Given the description of an element on the screen output the (x, y) to click on. 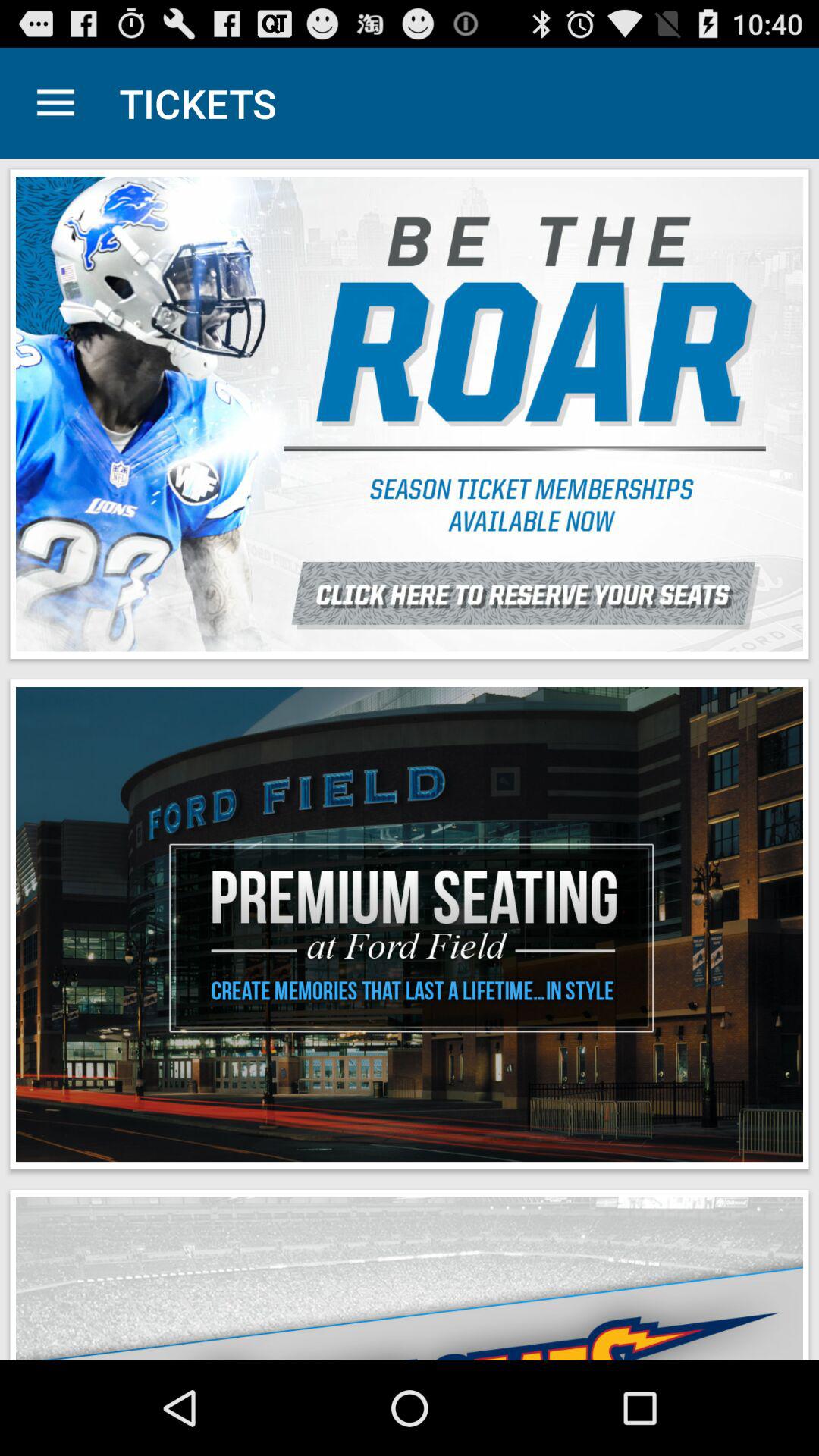
open app next to tickets icon (55, 103)
